Given the description of an element on the screen output the (x, y) to click on. 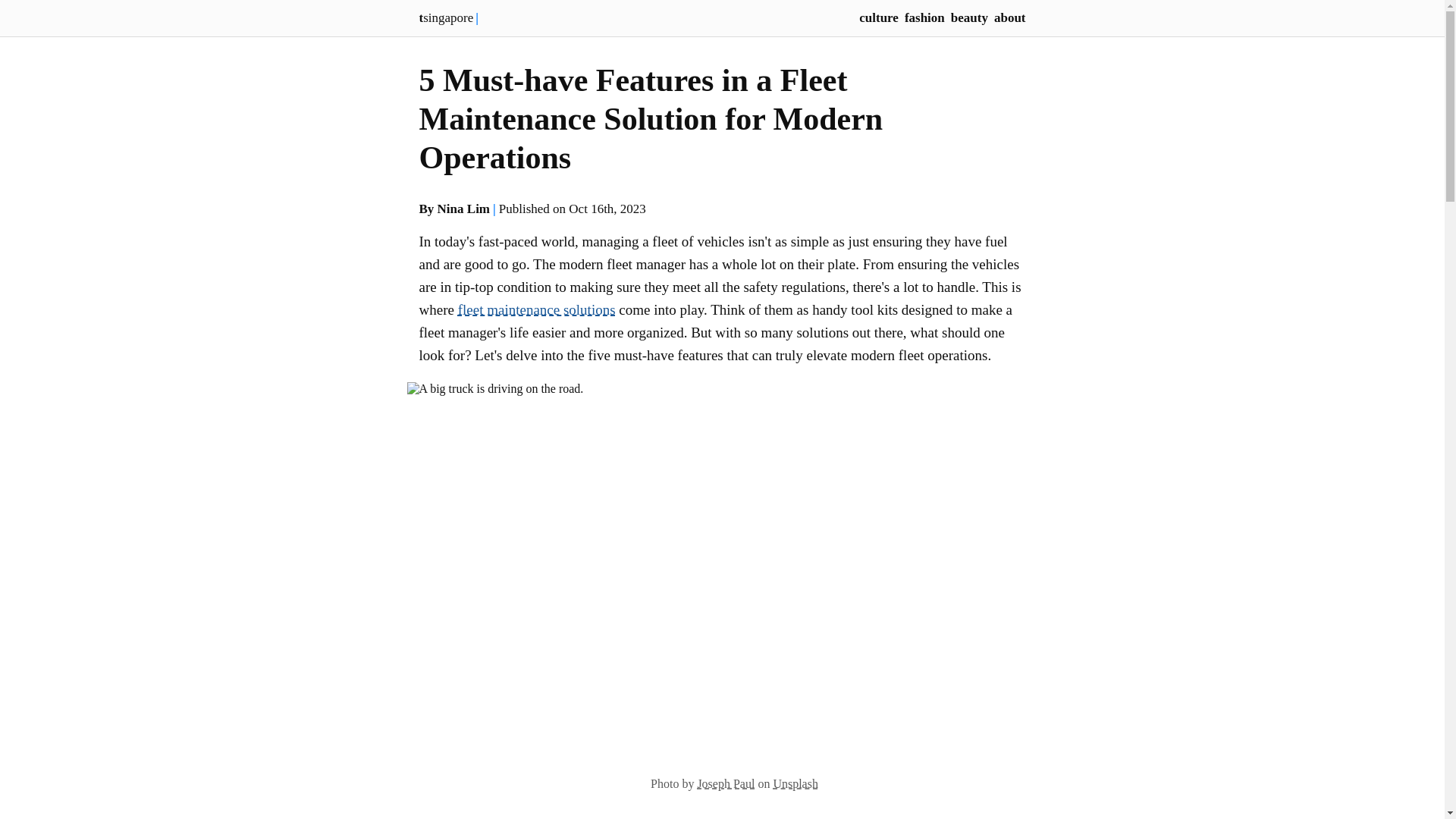
beauty (969, 17)
culture (878, 17)
fleet maintenance solutions (536, 309)
Joseph Paul (725, 783)
Unsplash (795, 783)
about (1010, 17)
fashion (924, 17)
